Given the description of an element on the screen output the (x, y) to click on. 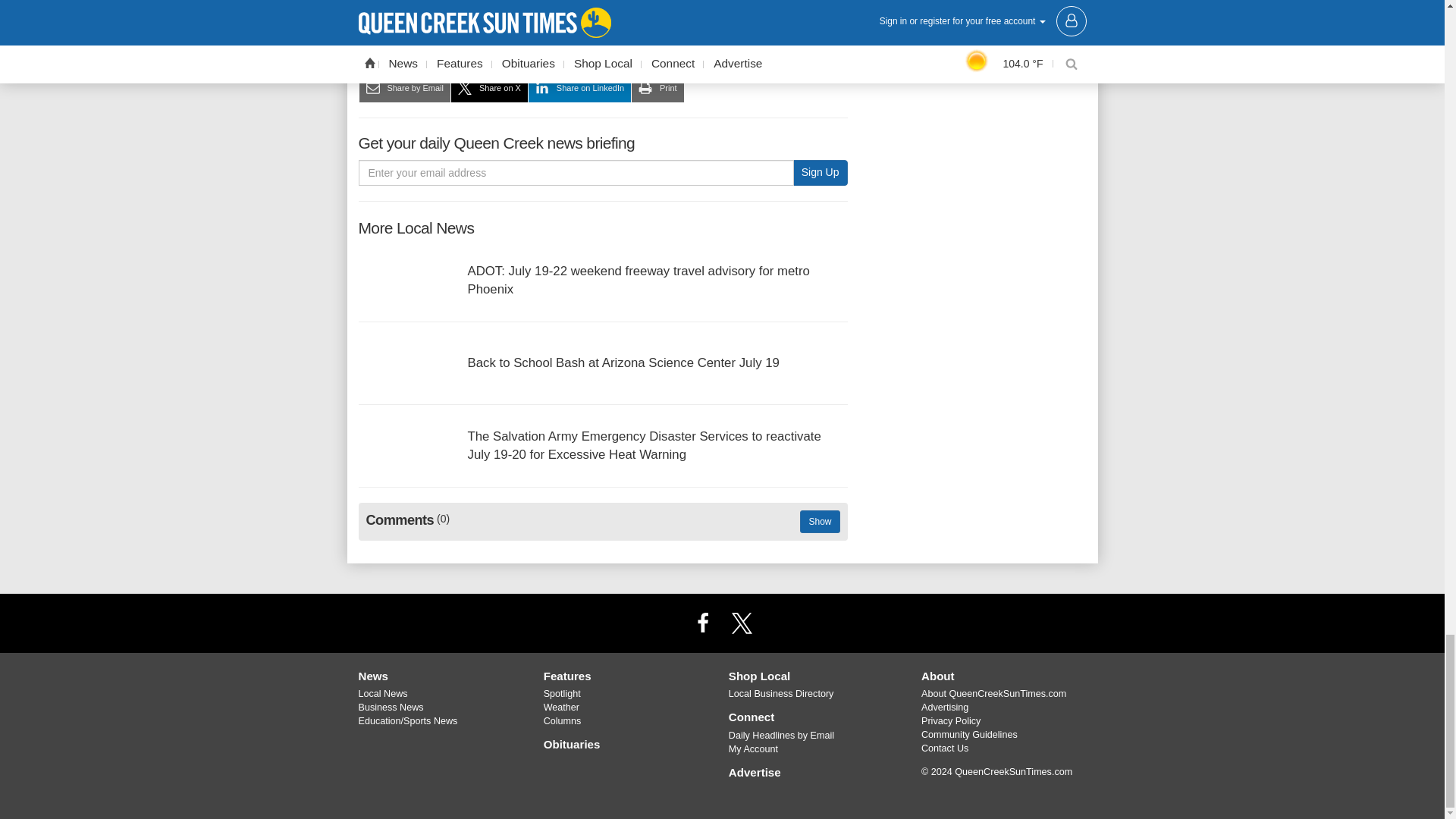
Facebook (702, 622)
